Given the description of an element on the screen output the (x, y) to click on. 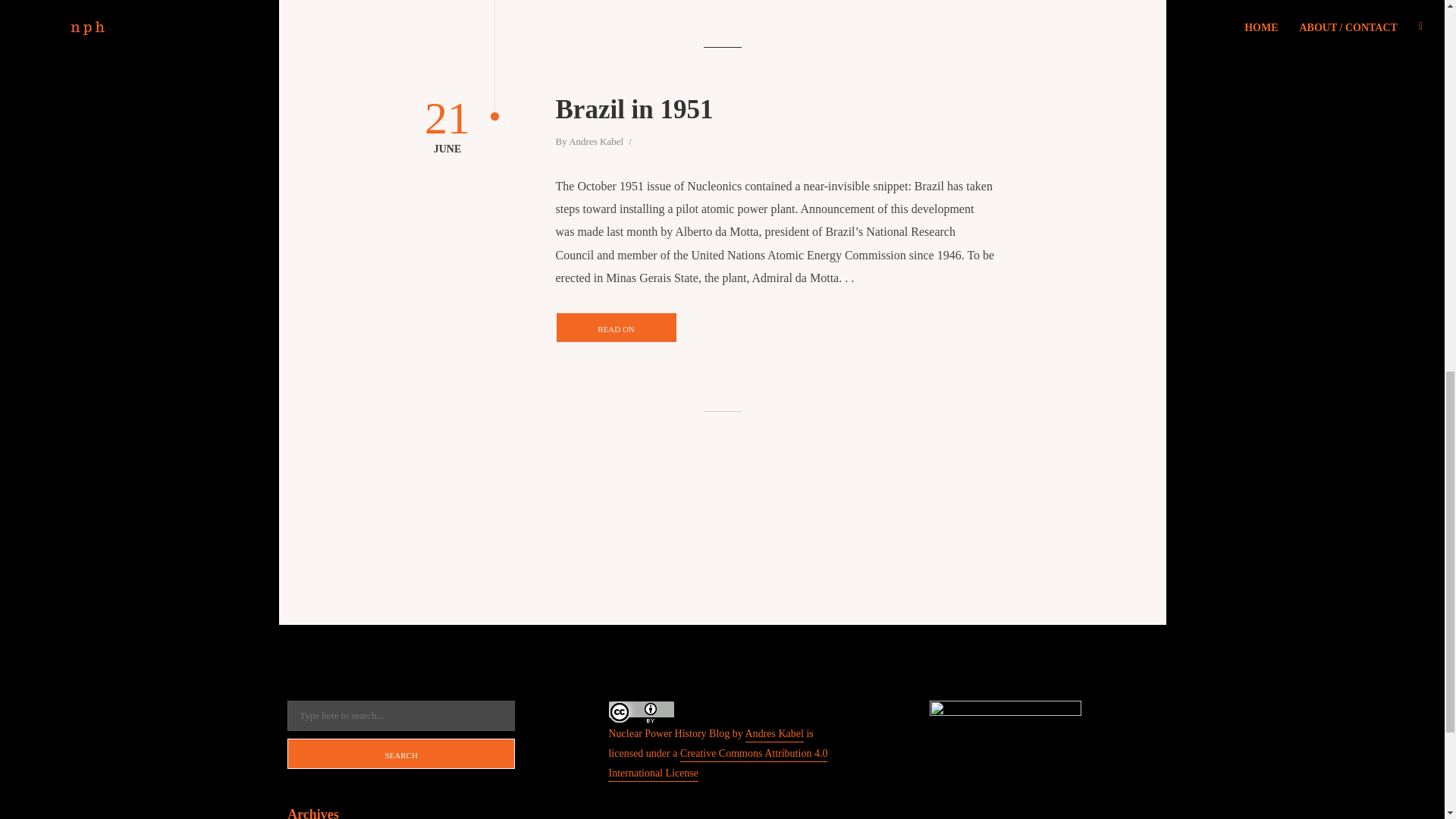
Brazil in 1951 (774, 109)
Creative Commons Attribution 4.0 International License (717, 764)
Andres Kabel (774, 735)
Andres Kabel (596, 142)
SEARCH (400, 753)
READ ON (615, 327)
